Given the description of an element on the screen output the (x, y) to click on. 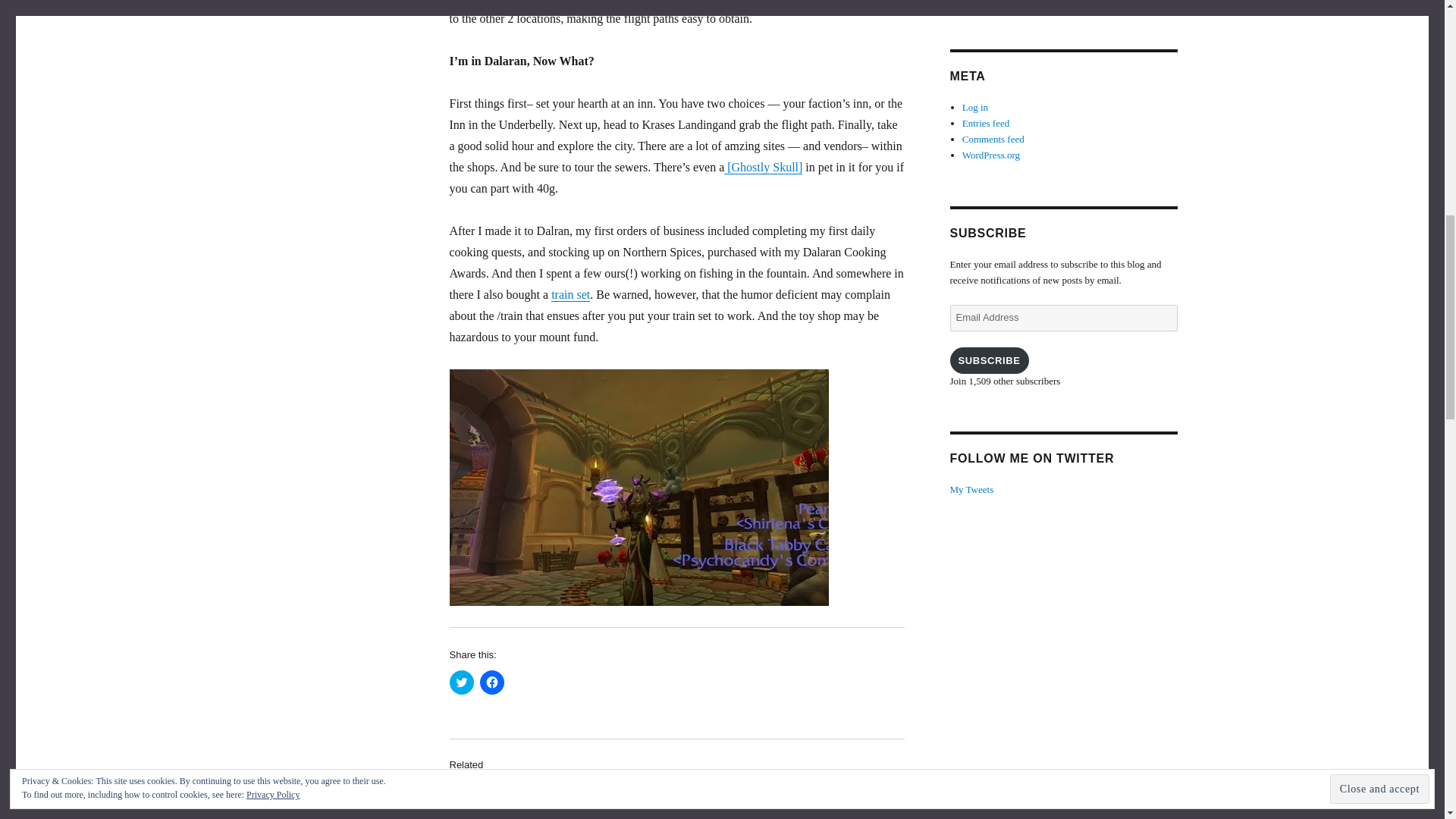
WordPress.org (991, 154)
Privacy Policy (991, 2)
Harvest Festival Bakeoff: Dalaran 7-Layer Brownies (504, 795)
My Tweets (970, 489)
Leveling my Mage 58-68 in the Post-patch 3.2 World (663, 795)
Comments feed (993, 138)
Click to share on Facebook (491, 682)
Click to share on Twitter (460, 682)
I Think I Smell a Giant Rat (806, 787)
I Think I Smell a Giant Rat (806, 787)
Harvest Festival Bakeoff: Dalaran 7-Layer Brownies (504, 795)
Entries feed (985, 122)
train set (570, 294)
SUBSCRIBE (988, 360)
Log in (975, 107)
